Given the description of an element on the screen output the (x, y) to click on. 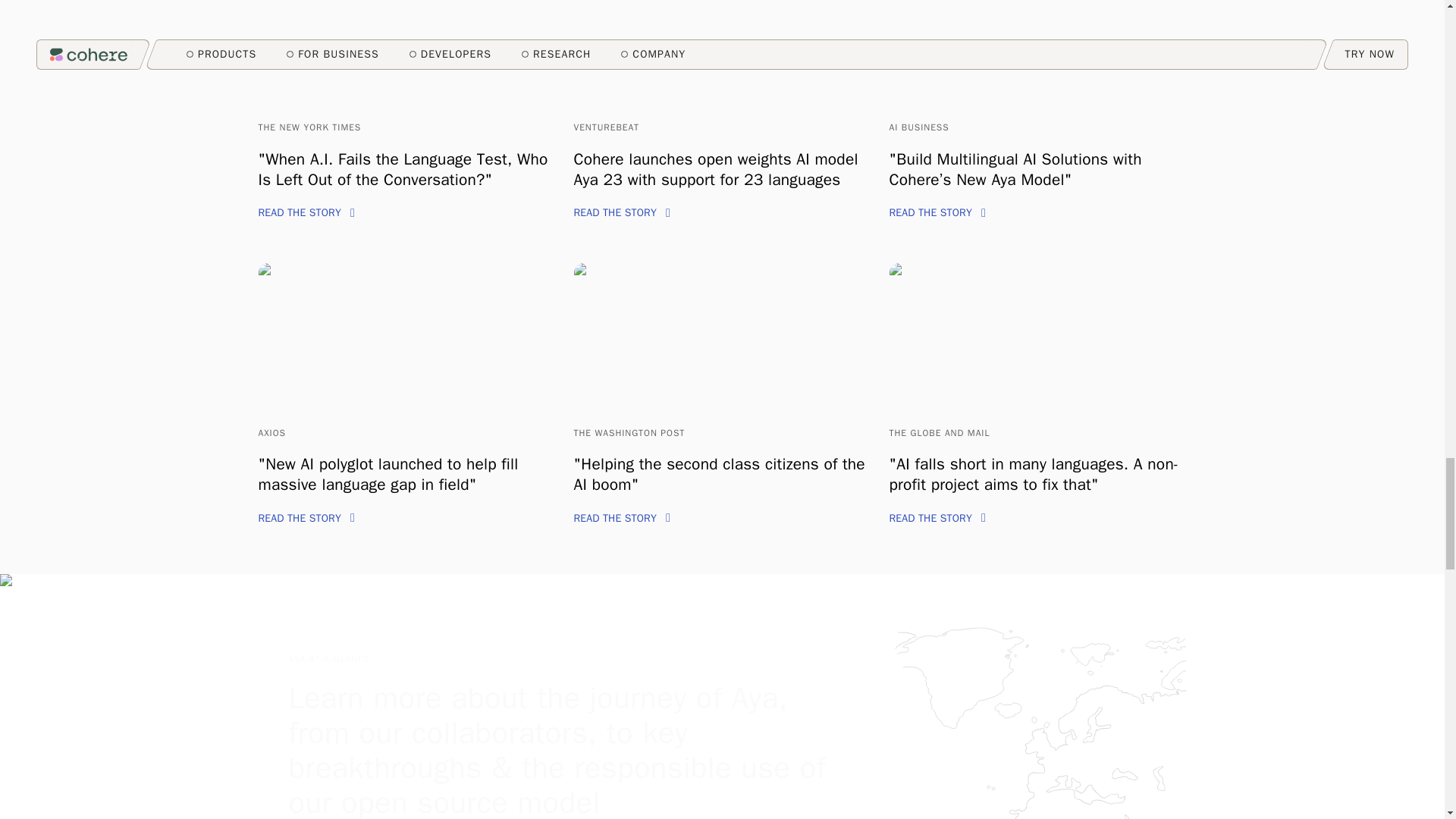
READ THE STORY (305, 518)
READ THE STORY (305, 212)
READ THE STORY (621, 518)
READ THE STORY (621, 212)
READ THE STORY (936, 212)
